Given the description of an element on the screen output the (x, y) to click on. 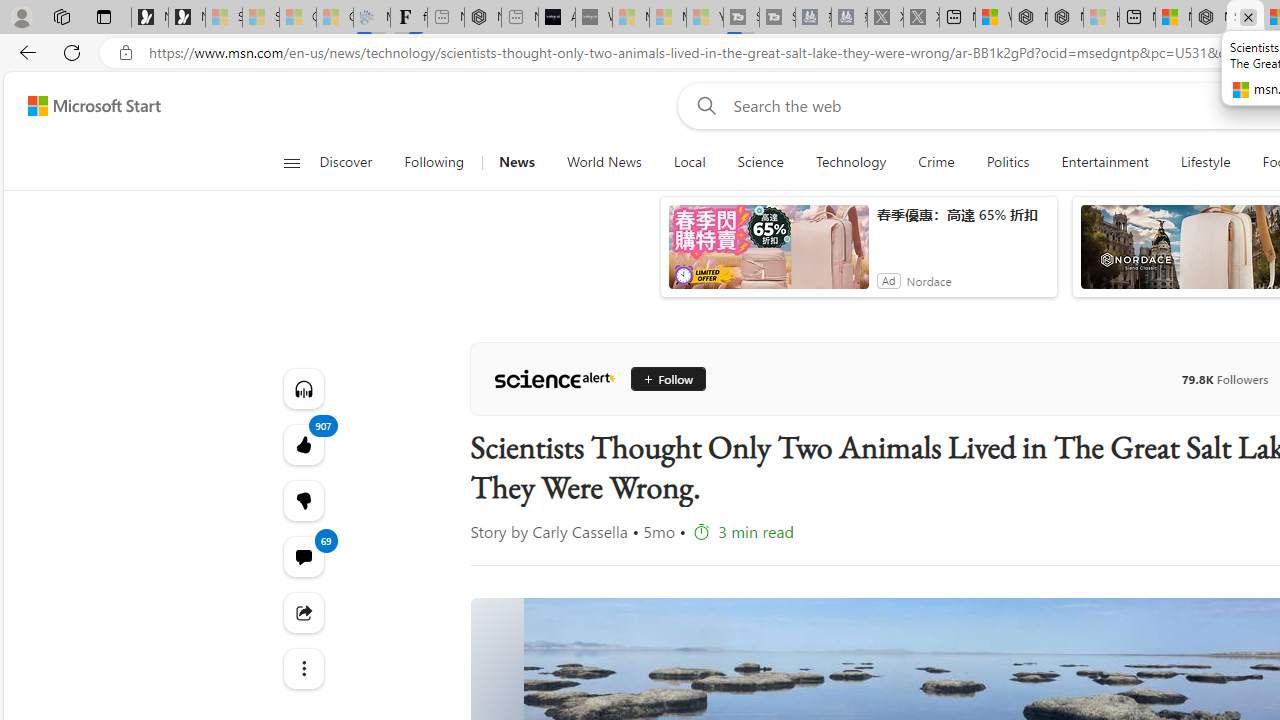
Nordace (929, 280)
Crime (935, 162)
Microsoft Start (94, 105)
Nordace - #1 Japanese Best-Seller - Siena Smart Backpack (482, 17)
Class: button-glyph (290, 162)
907 Like (302, 444)
Nordace - Nordace Siena Is Not An Ordinary Backpack (1209, 17)
Follow (666, 378)
Technology (850, 162)
Lifestyle (1204, 162)
New tab - Sleeping (519, 17)
Following (433, 162)
Skip to footer (82, 105)
